Given the description of an element on the screen output the (x, y) to click on. 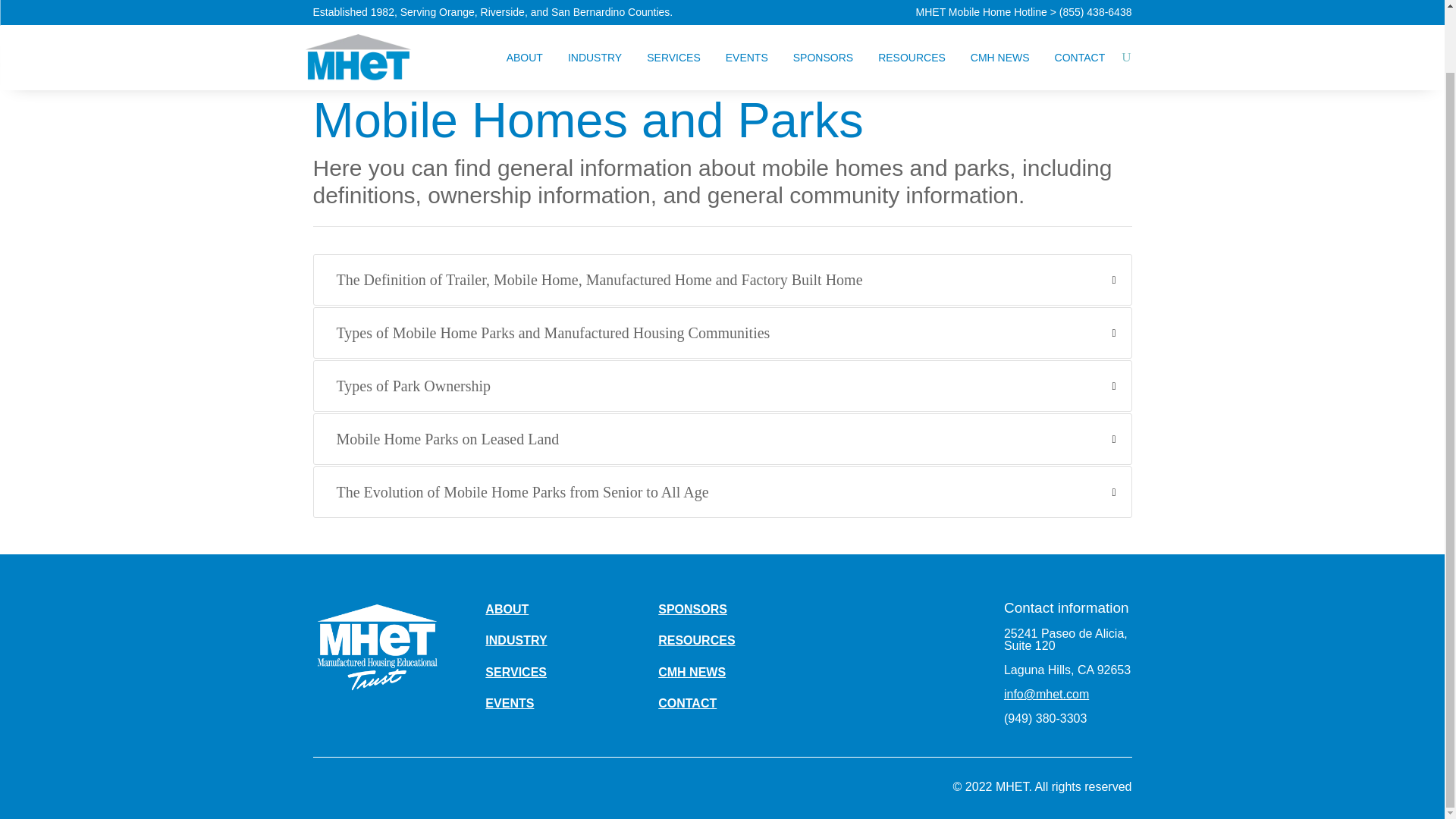
SERVICES (673, 9)
logowhite (376, 645)
CMH NEWS (1000, 9)
SPONSORS (823, 9)
EVENTS (746, 9)
ABOUT (524, 9)
INDUSTRY (594, 9)
RESOURCES (910, 9)
CONTACT (1079, 9)
